Given the description of an element on the screen output the (x, y) to click on. 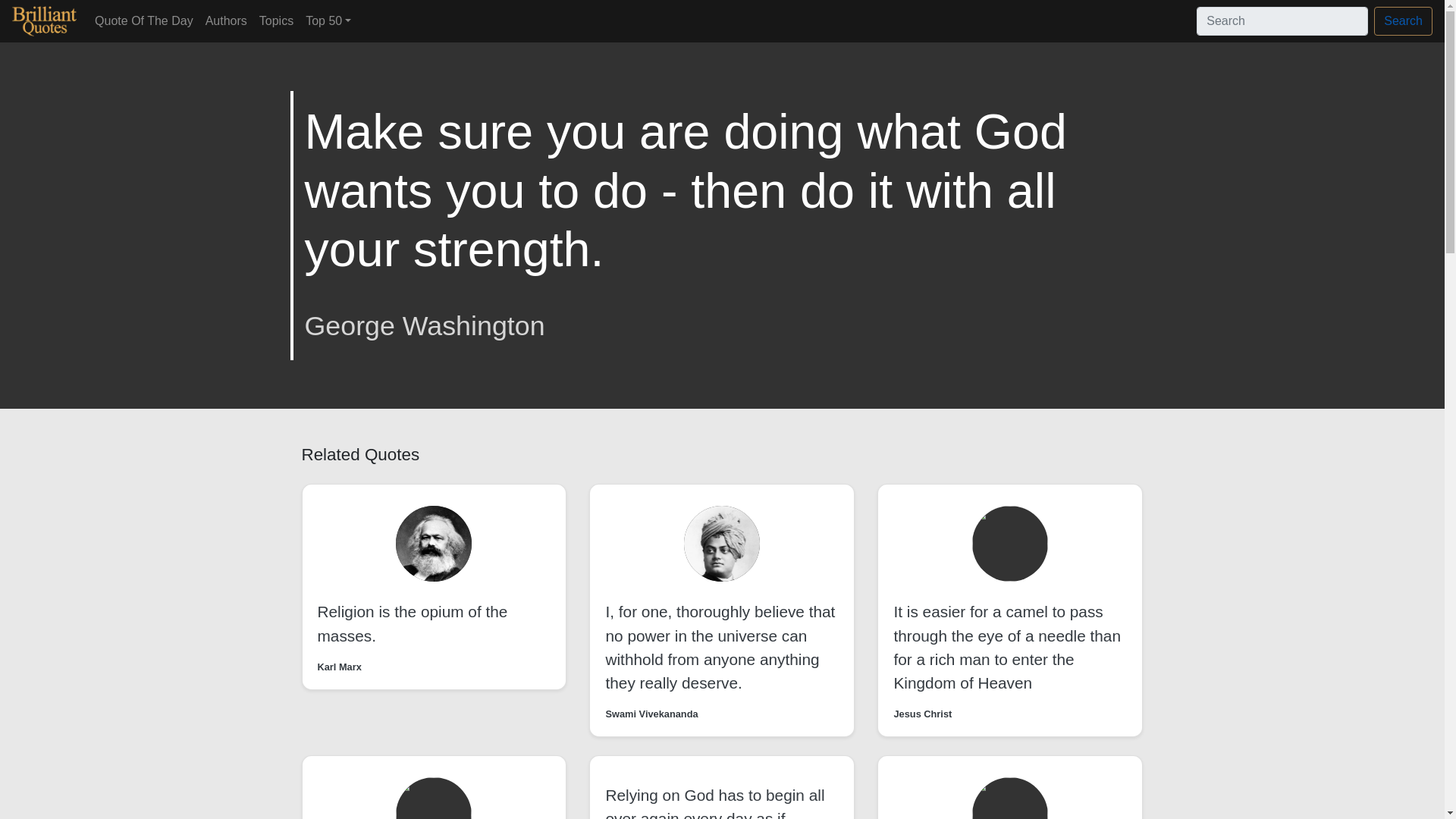
Topics (276, 20)
Top 50 (327, 20)
Religion is the opium of the masses. (411, 622)
Authors (226, 20)
Swami Vivekananda (651, 713)
Search (1403, 21)
Karl Marx (339, 667)
Jesus Christ (922, 713)
Quote Of The Day (143, 20)
